Given the description of an element on the screen output the (x, y) to click on. 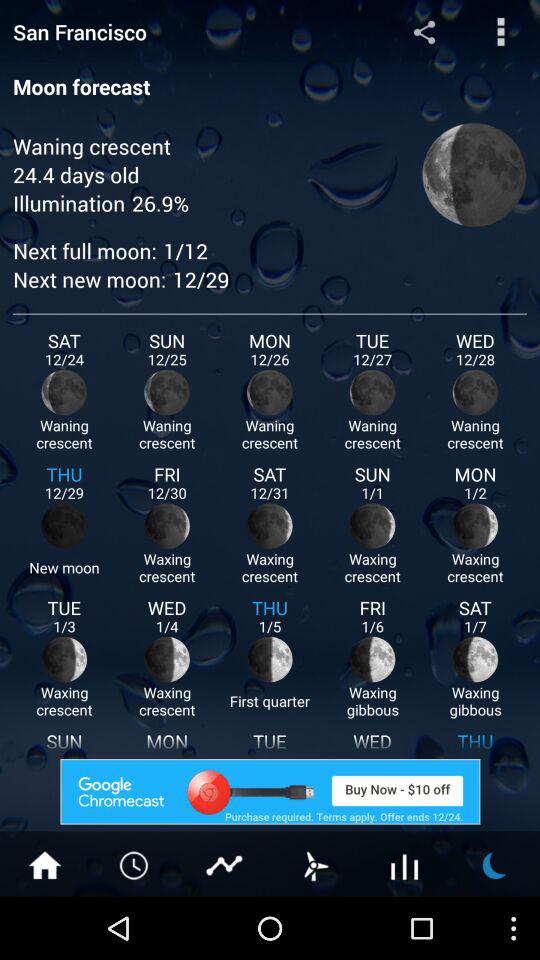
buy selection (270, 791)
